Given the description of an element on the screen output the (x, y) to click on. 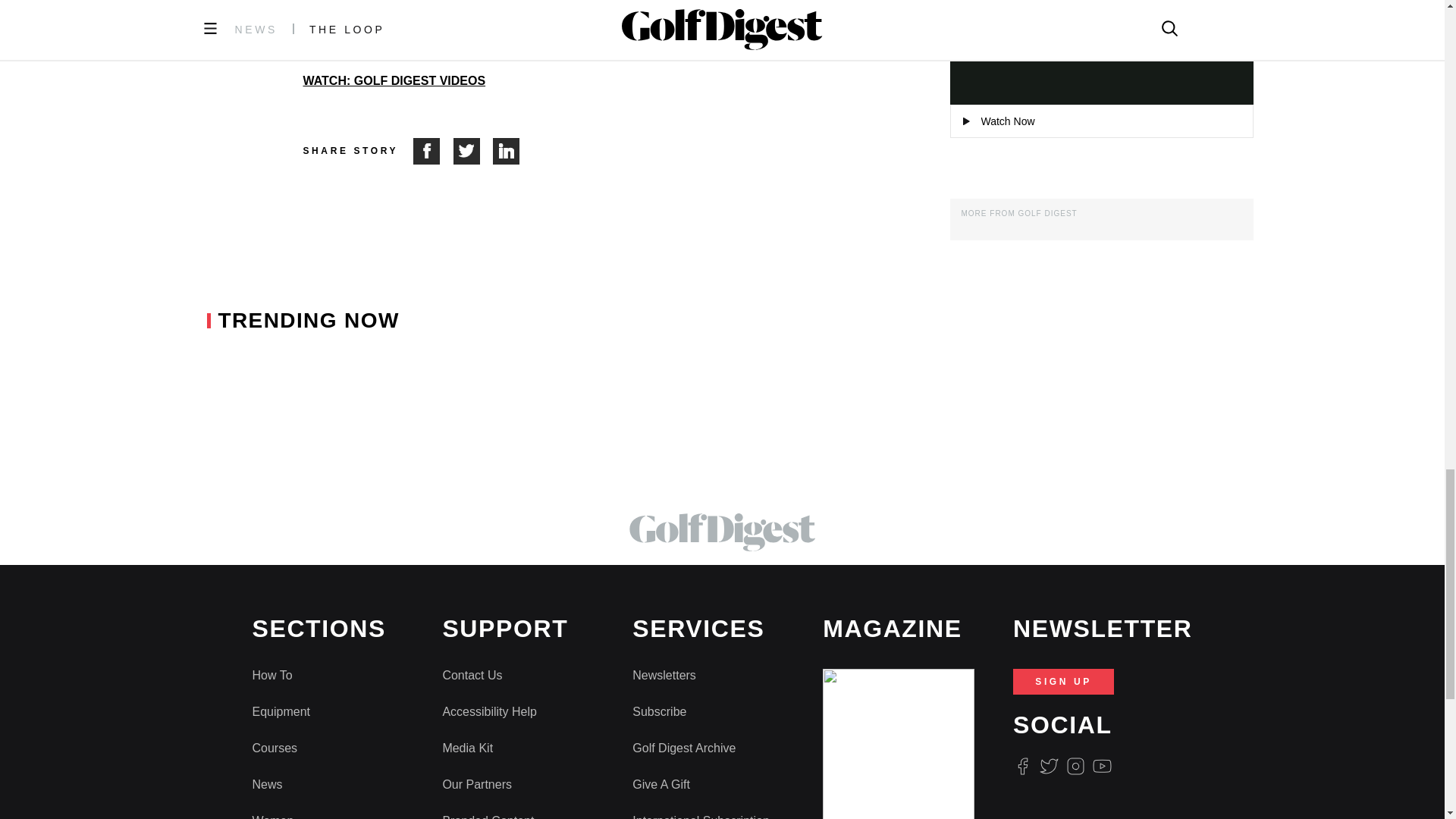
Share on Facebook (432, 151)
Facebook Logo (1022, 765)
Youtube Icon (1102, 765)
Share on LinkedIn (506, 151)
Share on Twitter (472, 151)
Instagram Logo (1074, 765)
Twitter Logo (1048, 765)
